Given the description of an element on the screen output the (x, y) to click on. 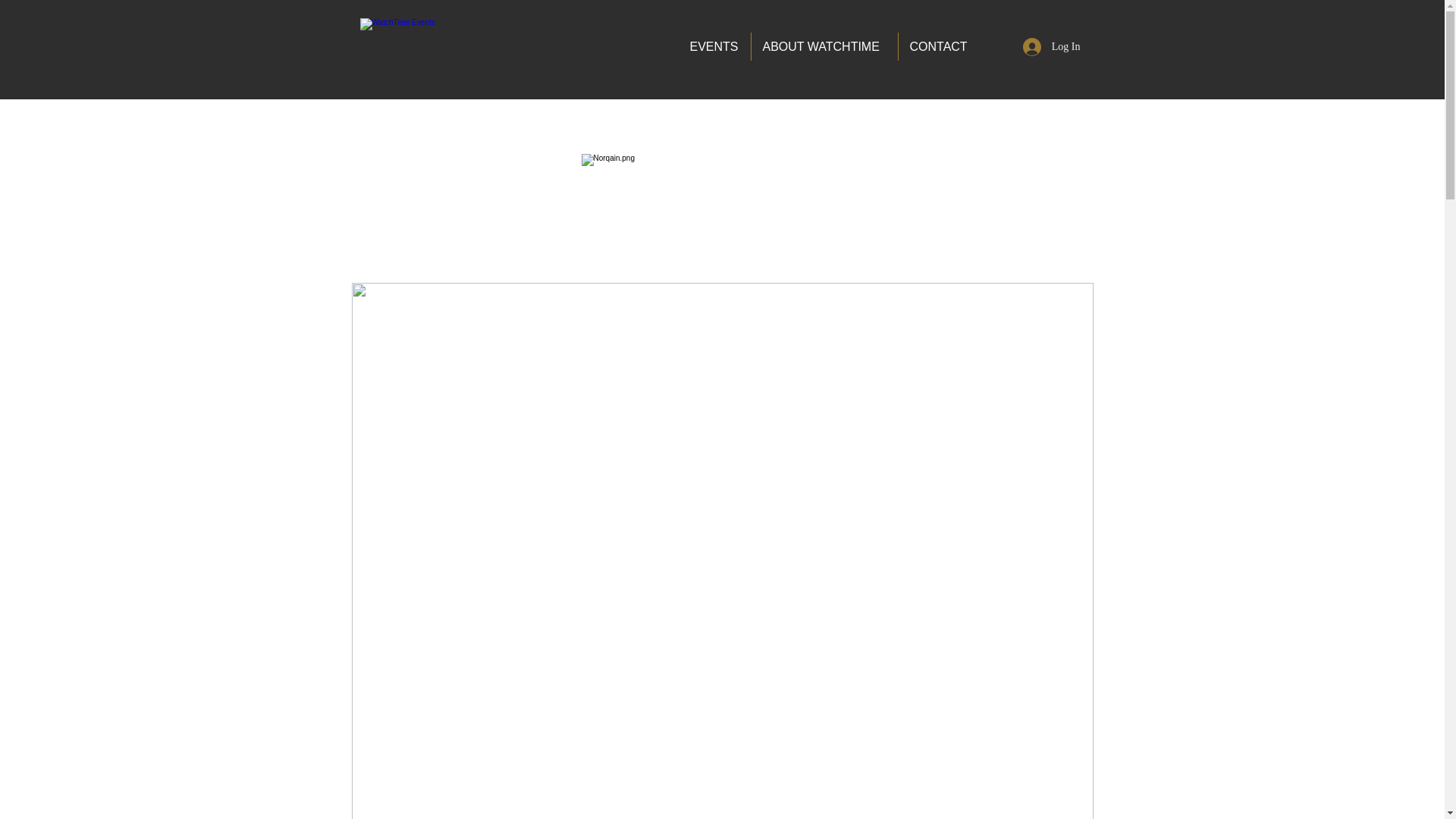
WTLive logo white.png (431, 52)
CONTACT (938, 46)
ABOUT WATCHTIME (823, 46)
EVENTS (713, 46)
Log In (1050, 46)
